Given the description of an element on the screen output the (x, y) to click on. 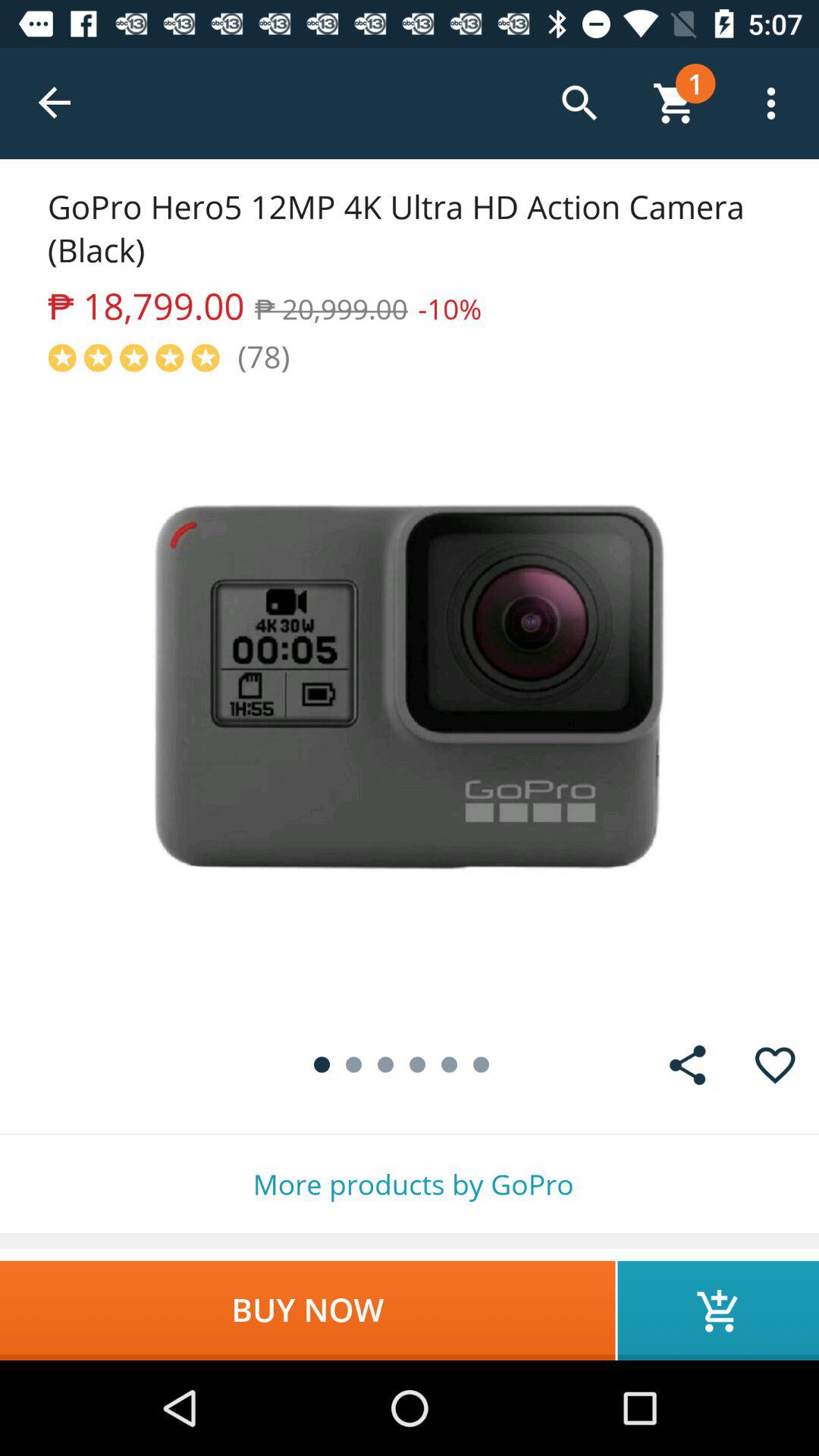
zoom in on image (409, 698)
